Given the description of an element on the screen output the (x, y) to click on. 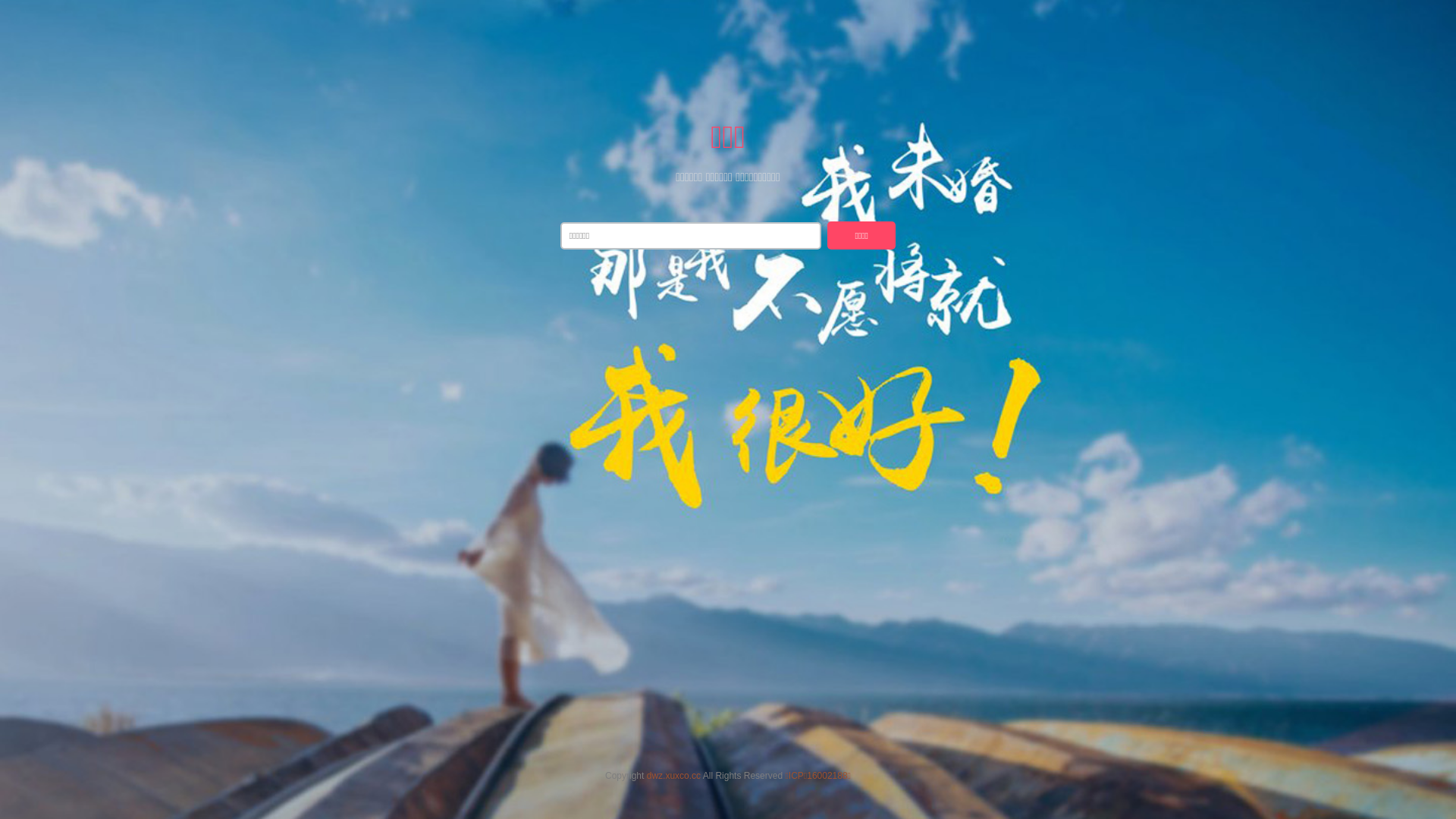
dwz.xuxco.cc Element type: text (673, 775)
